Given the description of an element on the screen output the (x, y) to click on. 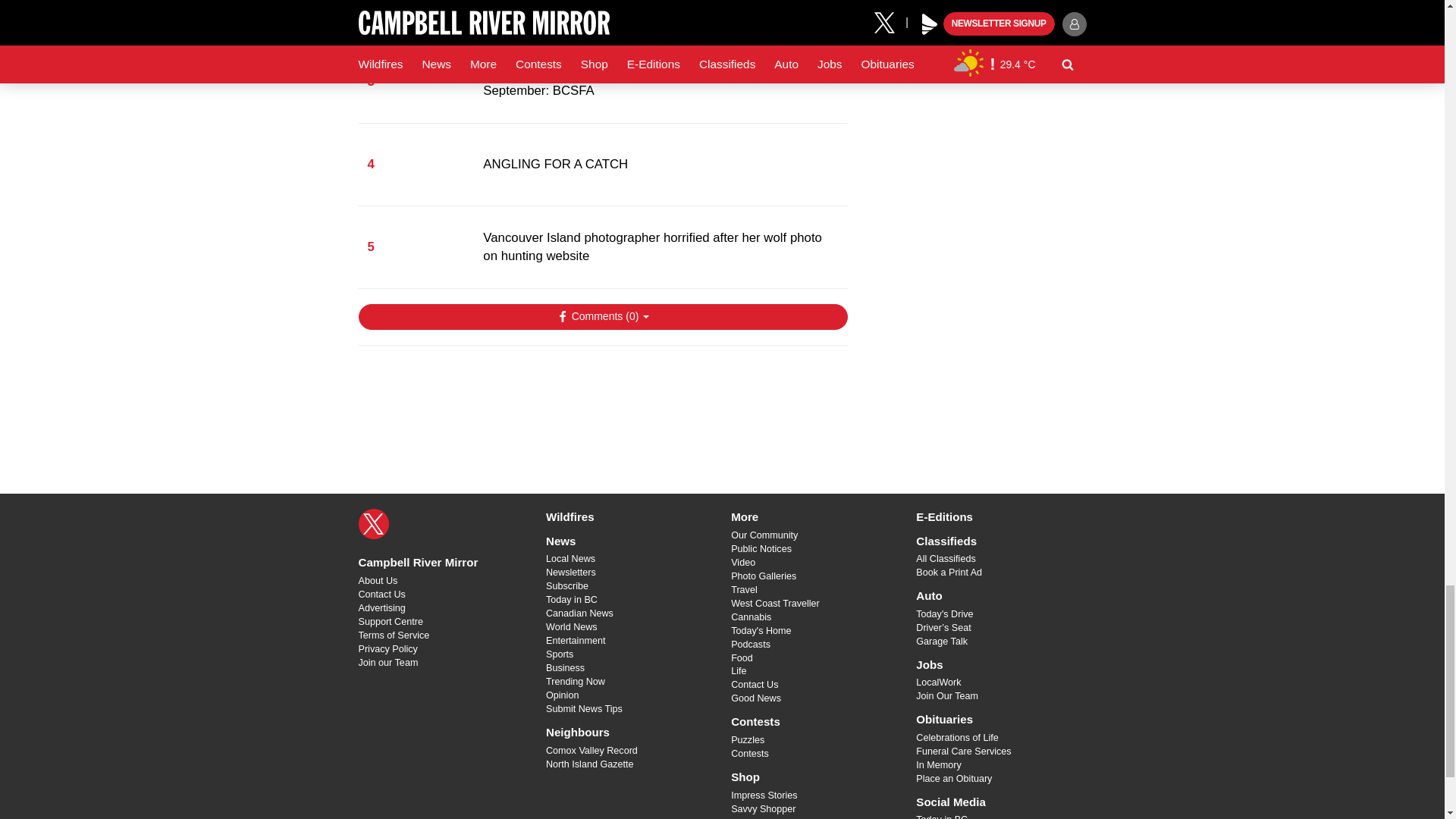
X (373, 523)
Show Comments (602, 316)
